Given the description of an element on the screen output the (x, y) to click on. 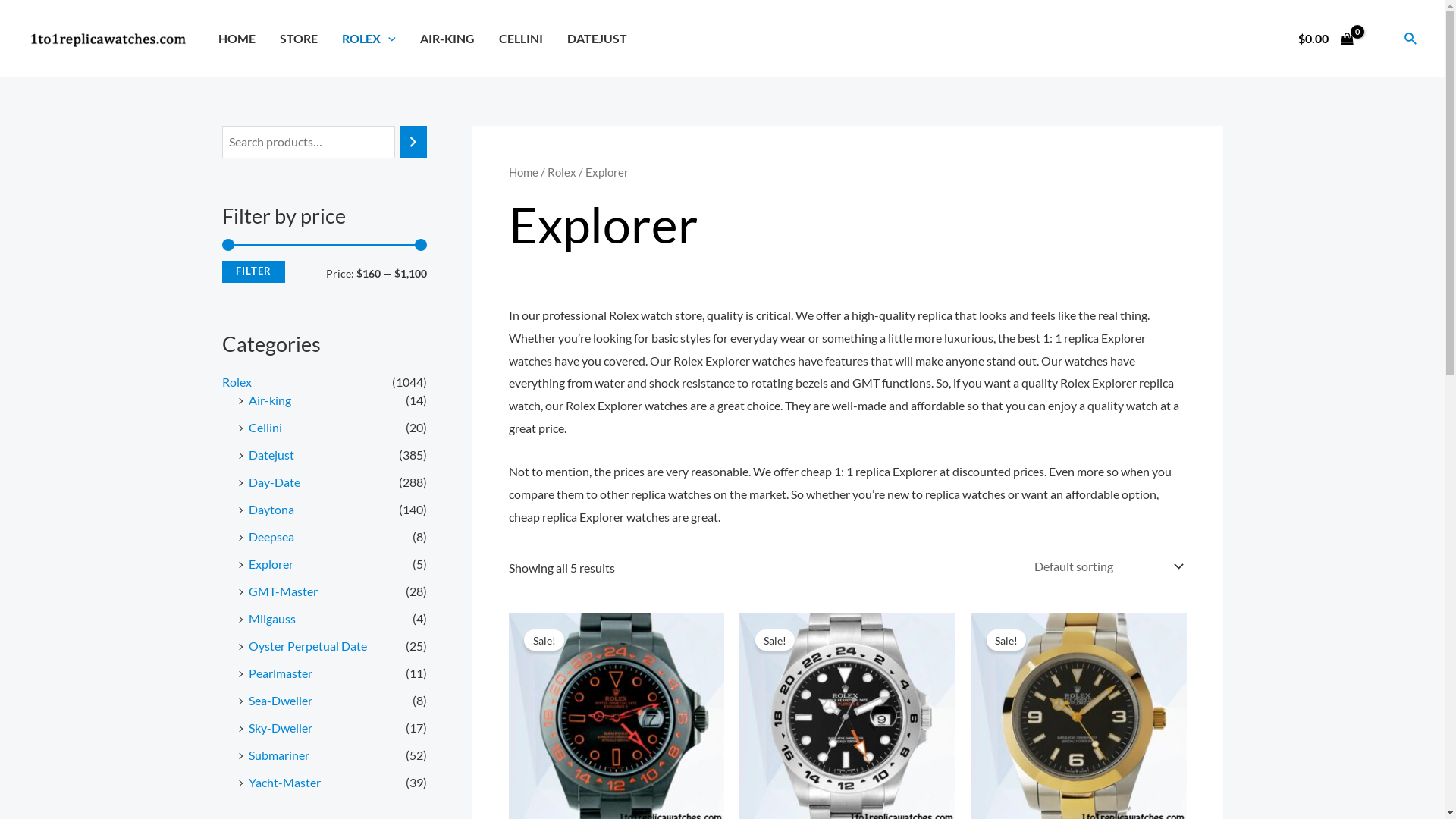
Day-Date Element type: text (274, 481)
Home Element type: text (522, 171)
Explorer Element type: text (270, 563)
CELLINI Element type: text (520, 38)
DATEJUST Element type: text (597, 38)
Oyster Perpetual Date Element type: text (307, 645)
Sky-Dweller Element type: text (280, 727)
ROLEX Element type: text (368, 38)
FILTER Element type: text (252, 271)
Pearlmaster Element type: text (280, 672)
Search Element type: text (1411, 37)
AIR-KING Element type: text (446, 38)
Milgauss Element type: text (271, 618)
STORE Element type: text (298, 38)
Submariner Element type: text (278, 754)
HOME Element type: text (236, 38)
Yacht-Master Element type: text (284, 782)
Air-king Element type: text (269, 399)
Cellini Element type: text (265, 427)
Rolex Element type: text (236, 381)
$0.00 Element type: text (1326, 38)
Sea-Dweller Element type: text (280, 700)
Daytona Element type: text (271, 509)
Datejust Element type: text (271, 454)
GMT-Master Element type: text (282, 590)
Deepsea Element type: text (271, 536)
Rolex Element type: text (561, 171)
